Given the description of an element on the screen output the (x, y) to click on. 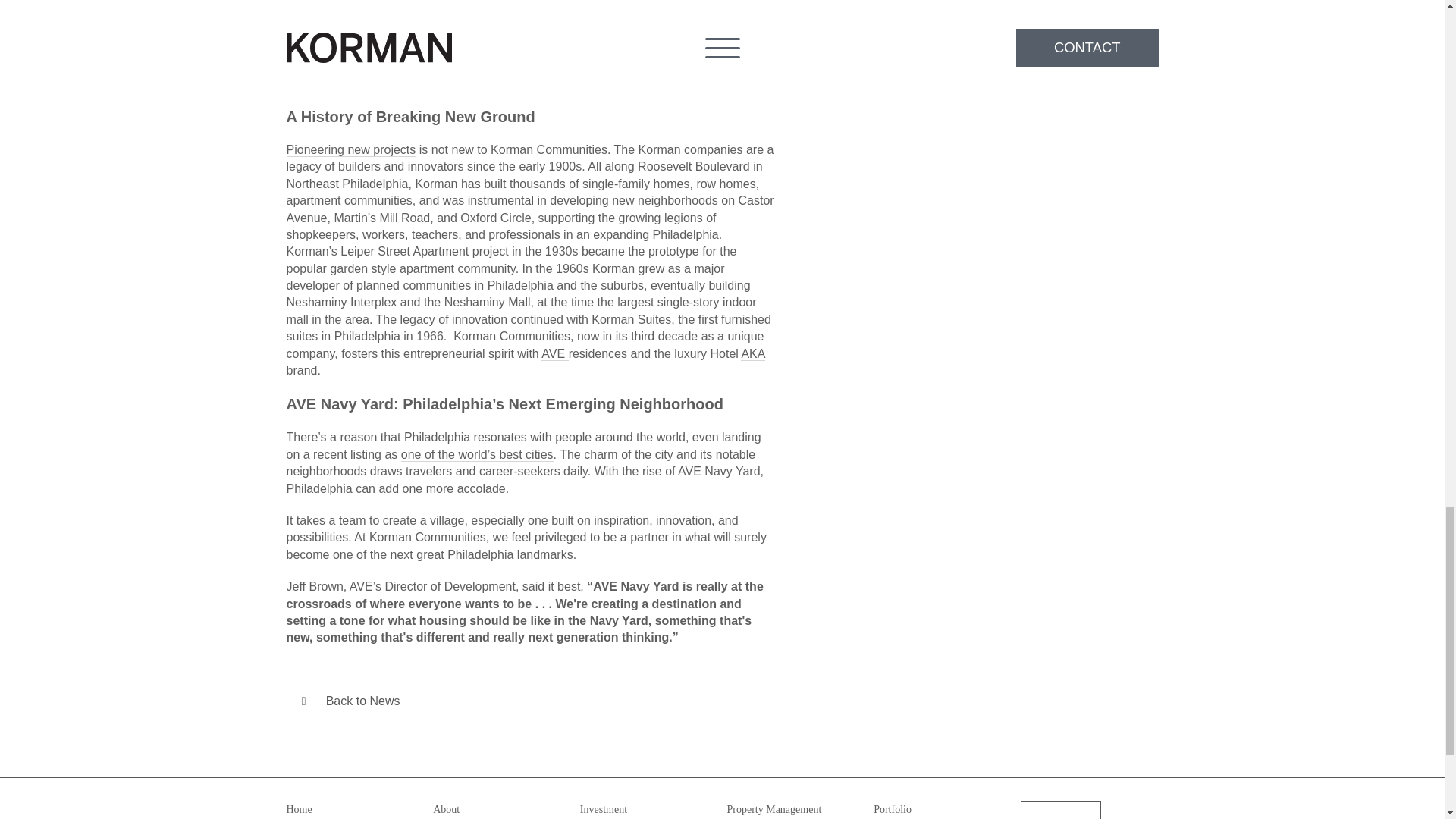
AKA (752, 355)
Back to News (349, 701)
Pioneering new projects (351, 151)
Home (299, 808)
AVE (552, 355)
About (446, 808)
